Given the description of an element on the screen output the (x, y) to click on. 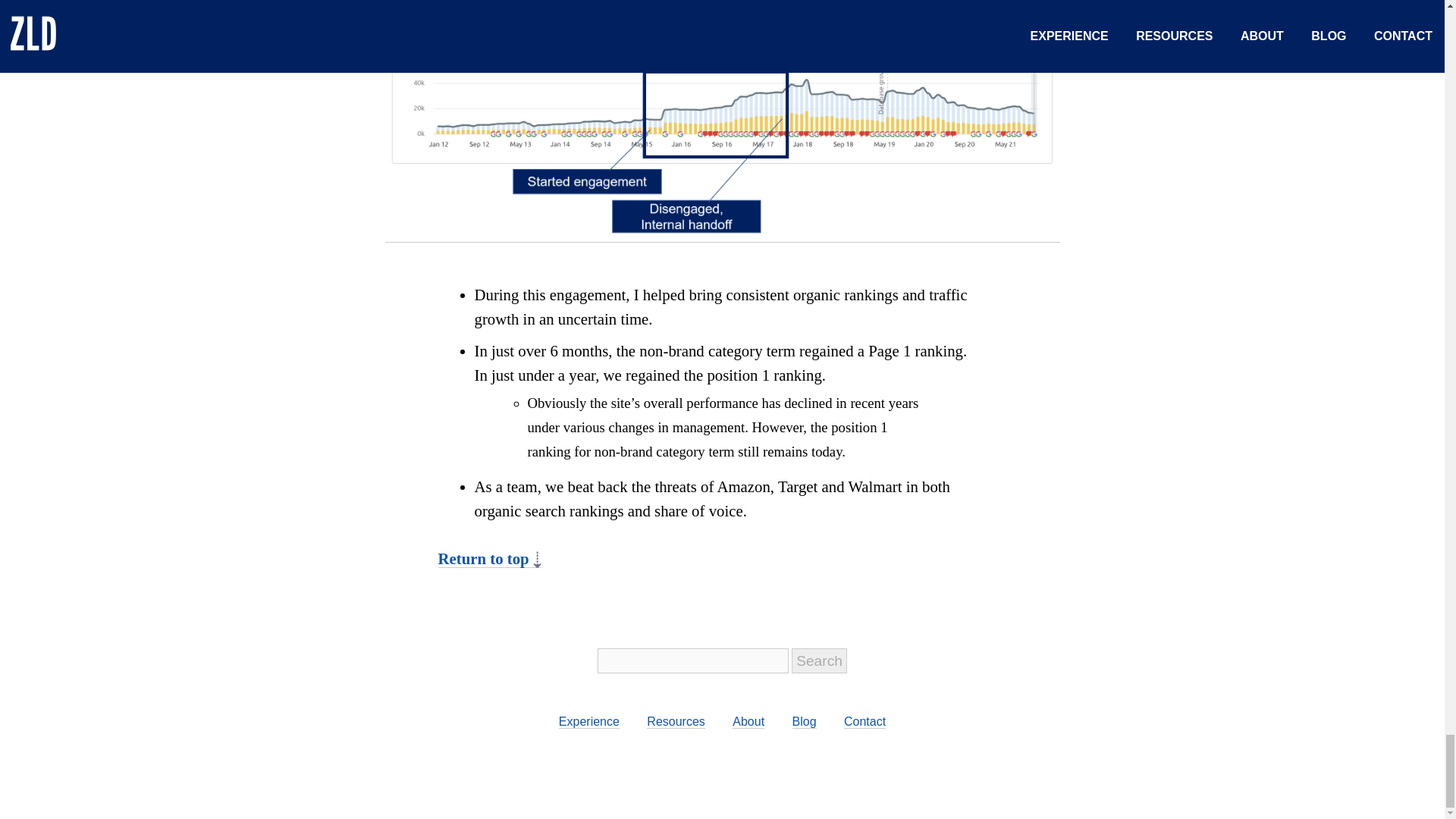
Contact (864, 721)
Search (818, 661)
Experience (589, 721)
Return to top (489, 558)
Resources (675, 721)
About (748, 721)
Blog (804, 721)
Search (818, 661)
